Given the description of an element on the screen output the (x, y) to click on. 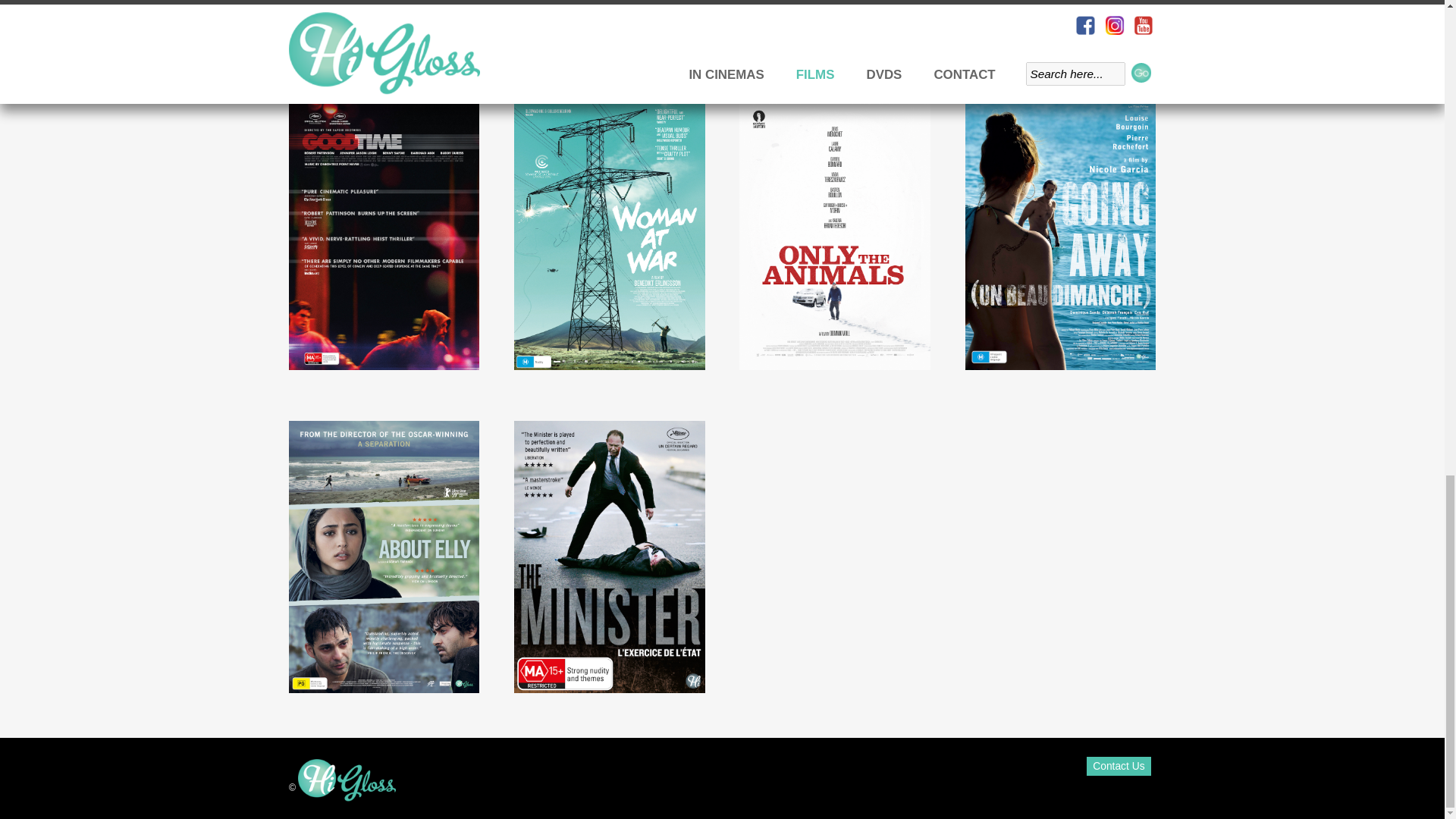
Contact Us (1118, 765)
